Given the description of an element on the screen output the (x, y) to click on. 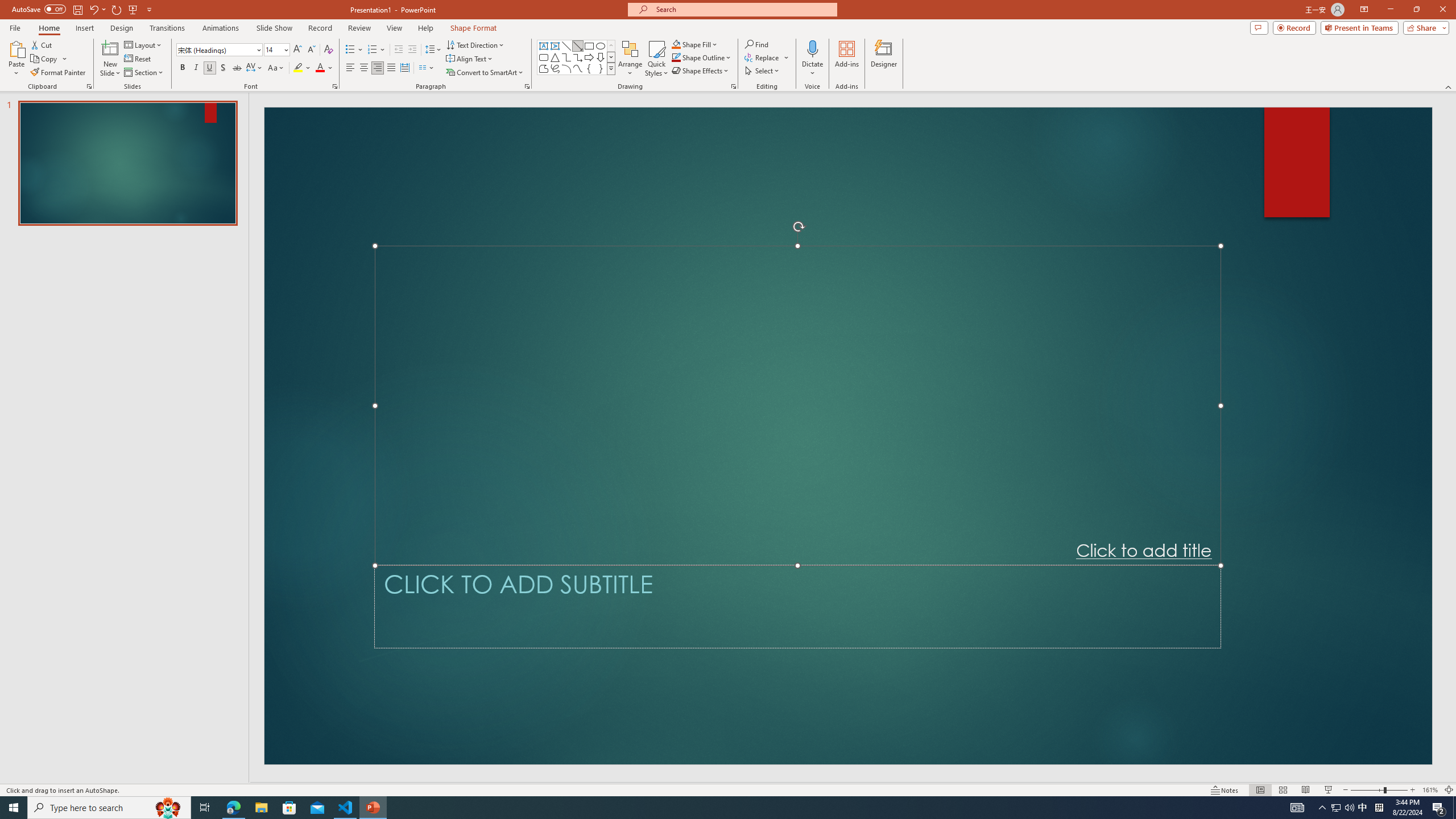
Subtitle TextBox (797, 606)
